Given the description of an element on the screen output the (x, y) to click on. 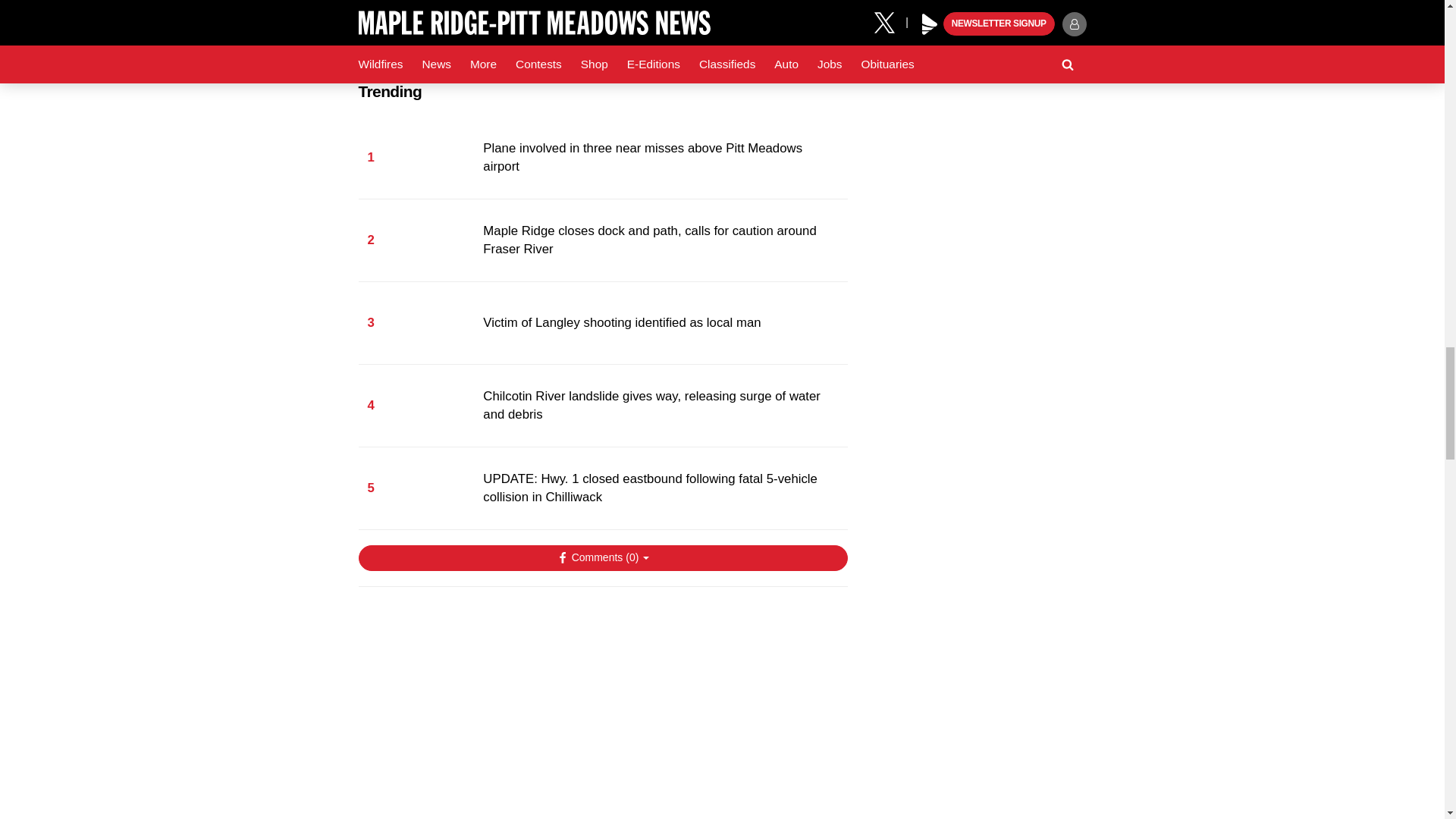
This has been shared 0 times (478, 768)
Show Comments (602, 557)
Login (727, 768)
